Given the description of an element on the screen output the (x, y) to click on. 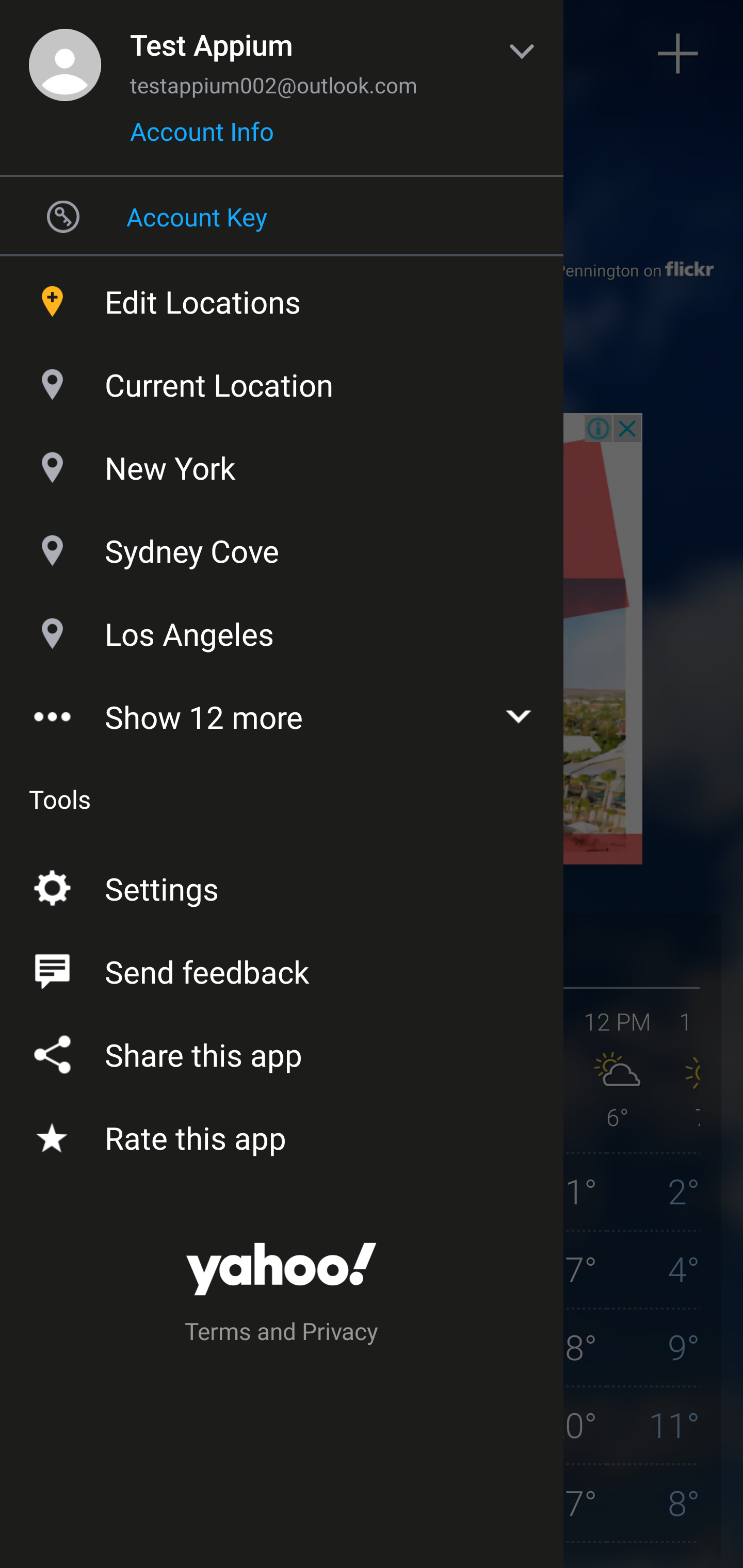
Sidebar (64, 54)
Account Info (202, 137)
Account Key (281, 216)
Edit Locations (281, 296)
Current Location (281, 379)
New York (281, 462)
Sydney Cove (281, 546)
Los Angeles (281, 629)
Settings (281, 884)
Send feedback (281, 967)
Share this app (281, 1050)
Terms and Privacy Terms and privacy button (281, 1334)
